Given the description of an element on the screen output the (x, y) to click on. 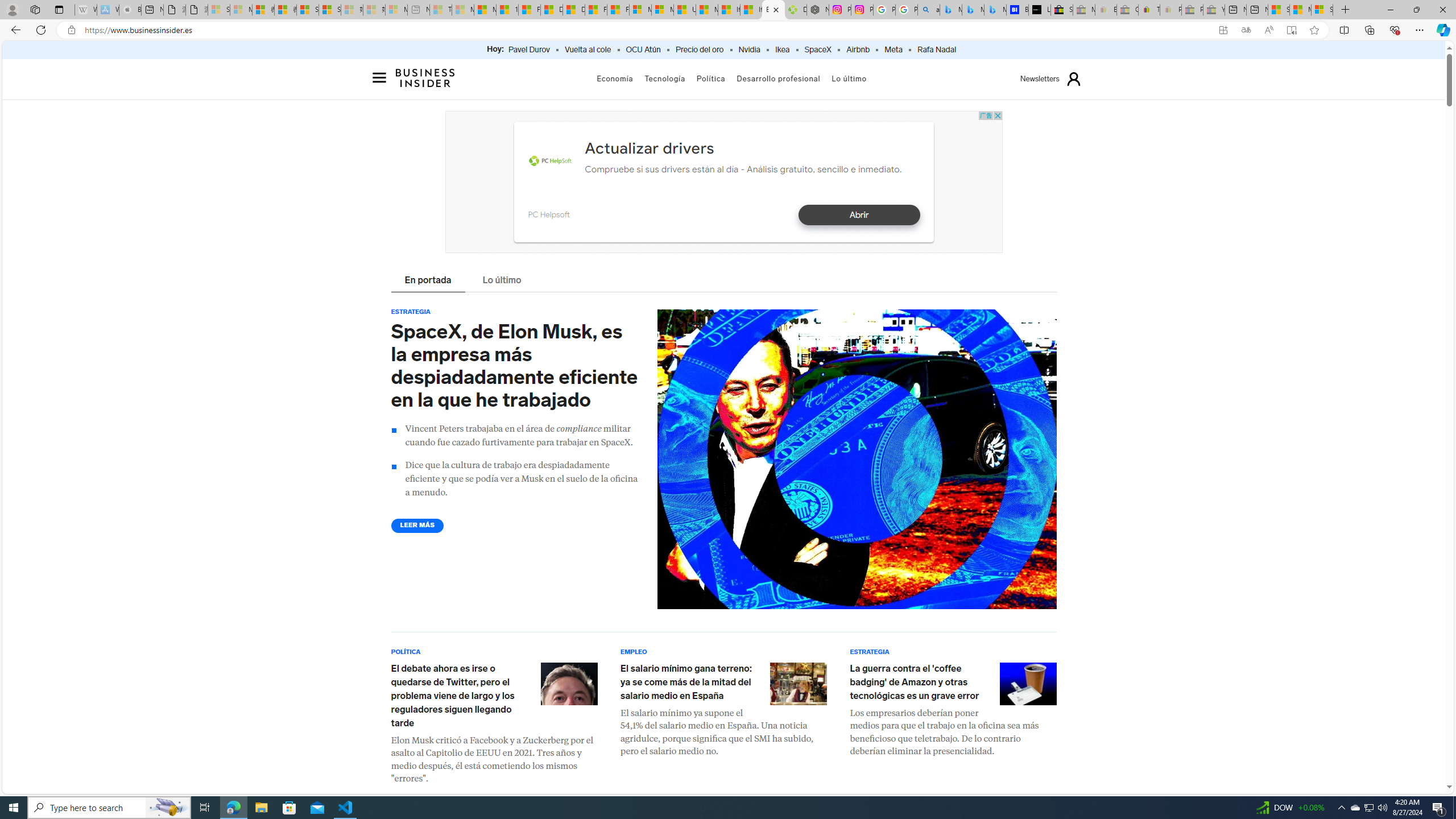
Meta (893, 49)
Rafa Nadal (936, 49)
Sign in to your Microsoft account (1322, 9)
Nordace - Nordace Edin Collection (818, 9)
Precio del oro (699, 49)
Buy iPad - Apple - Sleeping (130, 9)
Actualizar drivers (648, 148)
